Given the description of an element on the screen output the (x, y) to click on. 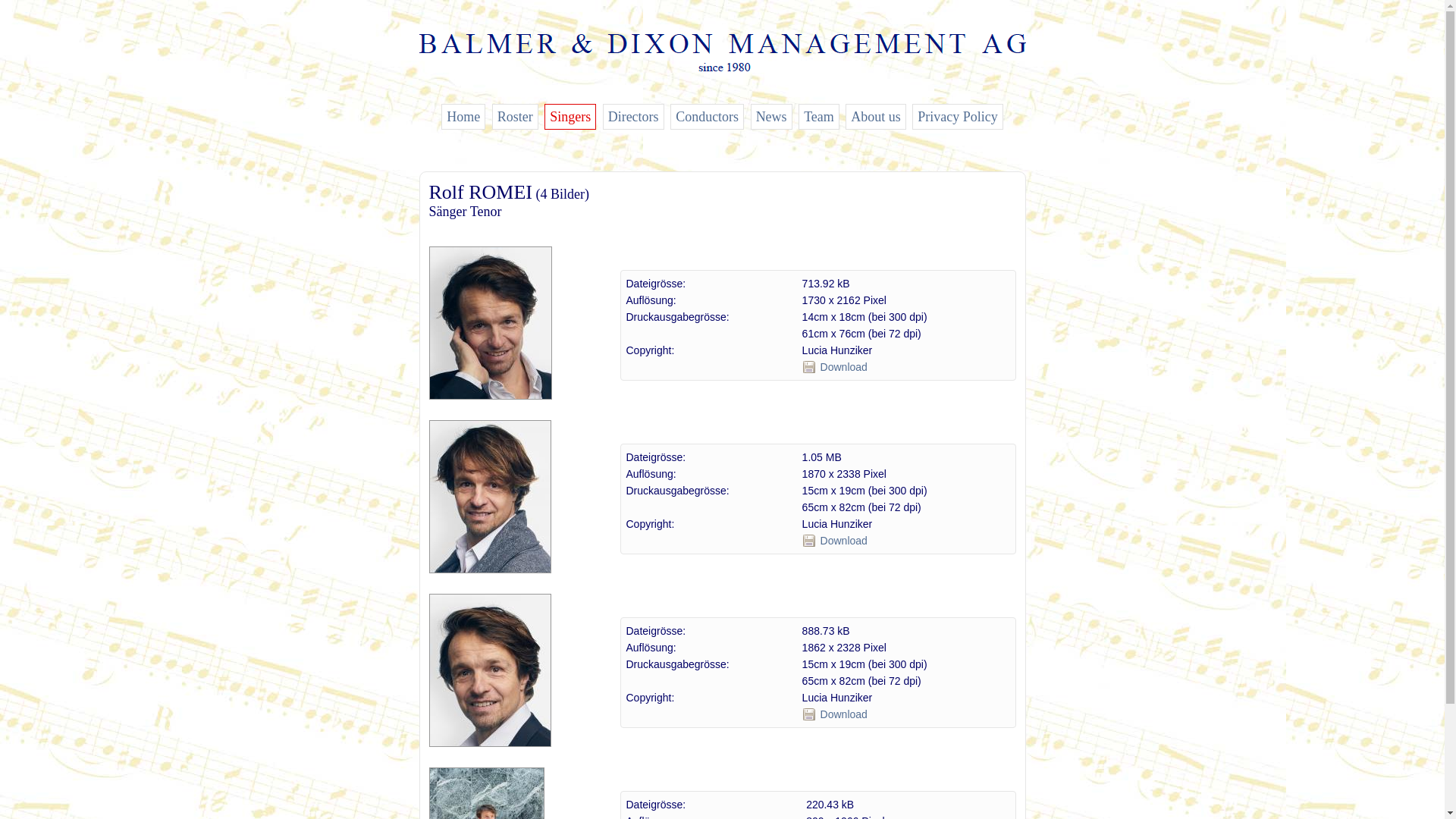
Roster Element type: text (515, 116)
News Element type: text (771, 116)
Privacy Policy Element type: text (957, 116)
Home Element type: text (463, 116)
Download Element type: text (843, 539)
Conductors Element type: text (706, 116)
Singers Element type: text (569, 116)
Team Element type: text (818, 116)
Download Element type: text (843, 714)
About us Element type: text (875, 116)
Download Element type: text (843, 366)
Startseite Element type: hover (721, 66)
Directors Element type: text (633, 116)
